Given the description of an element on the screen output the (x, y) to click on. 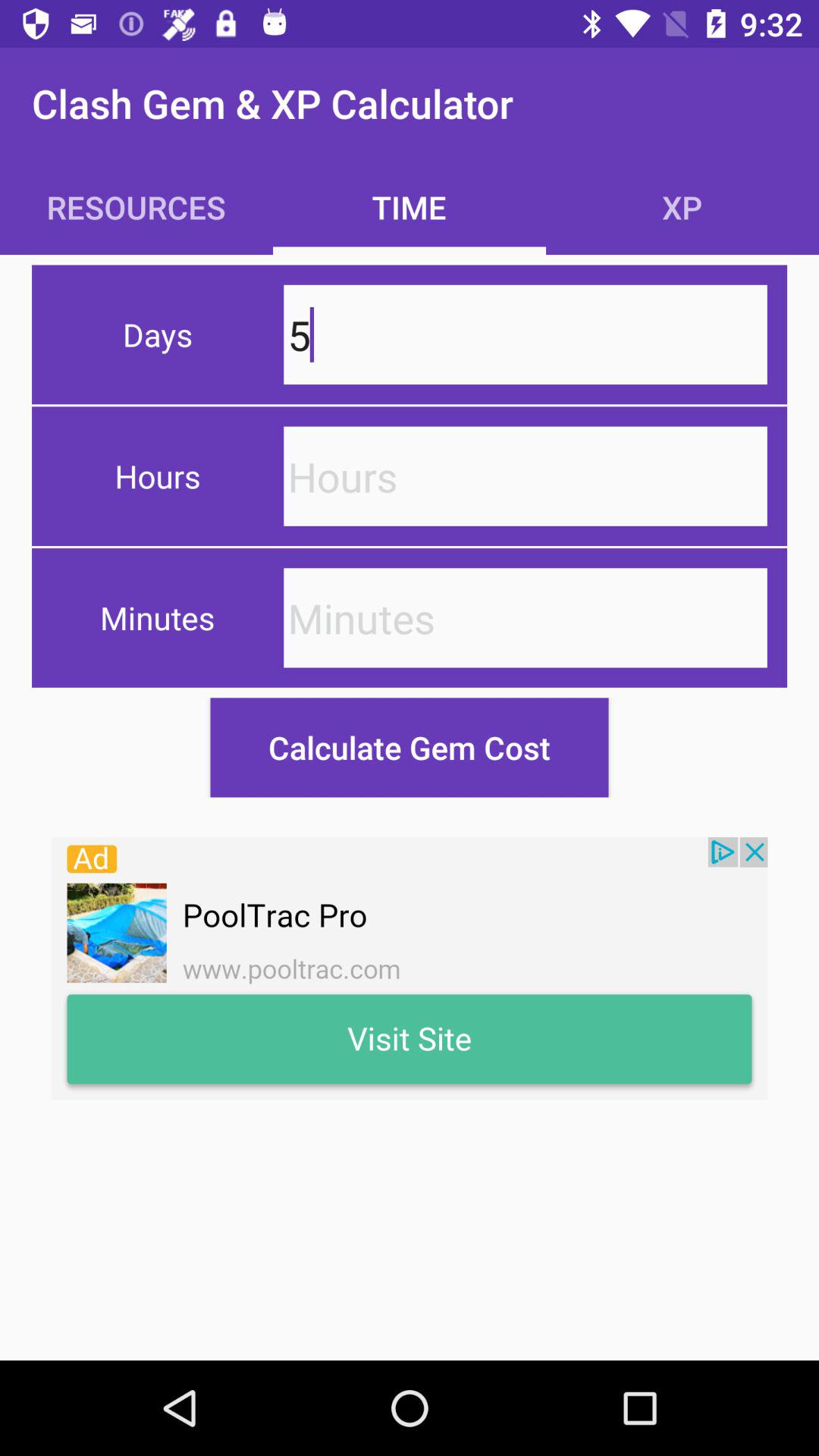
enter hours (525, 476)
